Given the description of an element on the screen output the (x, y) to click on. 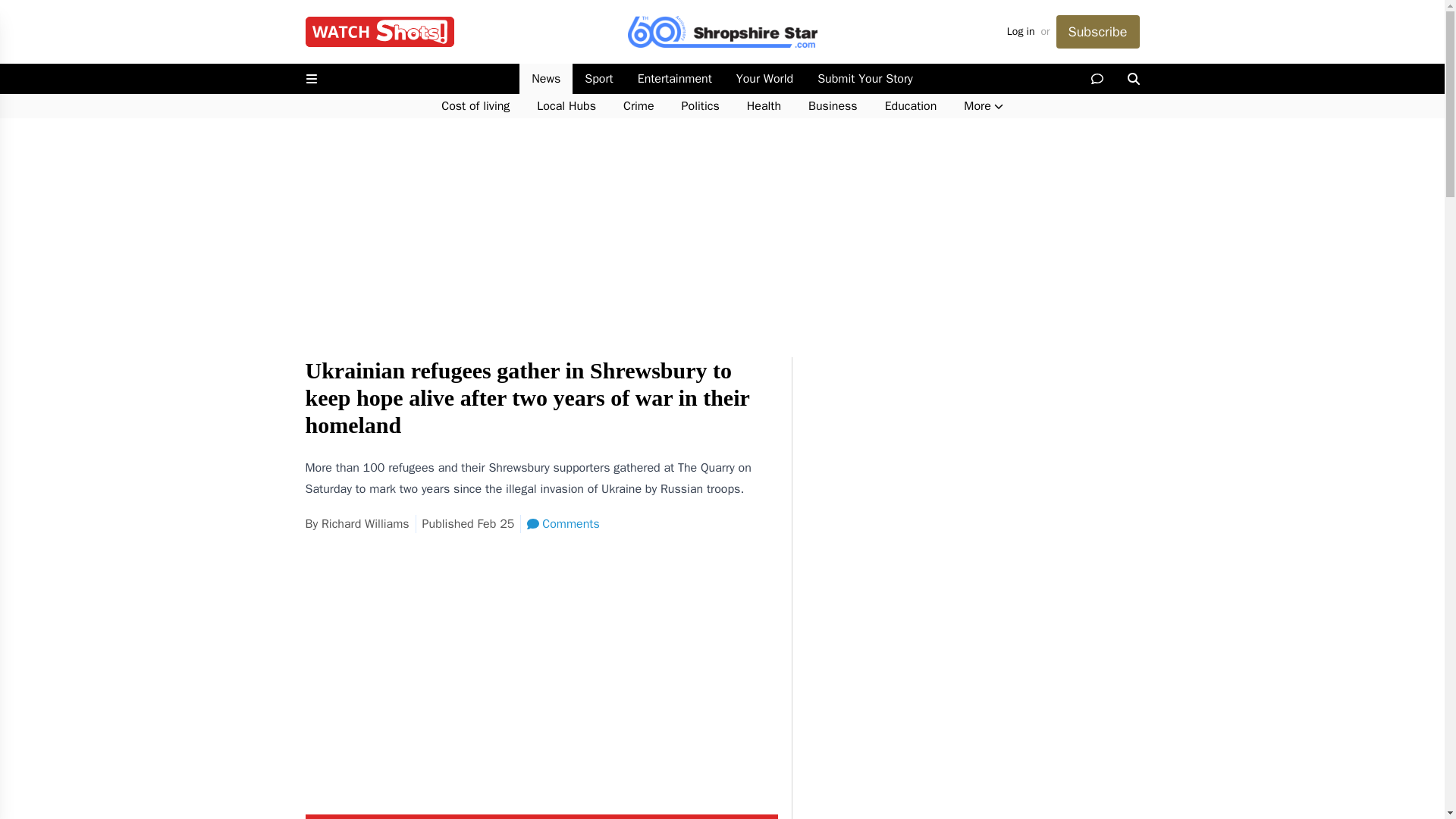
Local Hubs (566, 105)
Your World (764, 78)
Politics (700, 105)
Log in (1021, 31)
Subscribe (1096, 31)
Sport (598, 78)
Crime (638, 105)
News (545, 78)
Cost of living (475, 105)
Submit Your Story (864, 78)
